Given the description of an element on the screen output the (x, y) to click on. 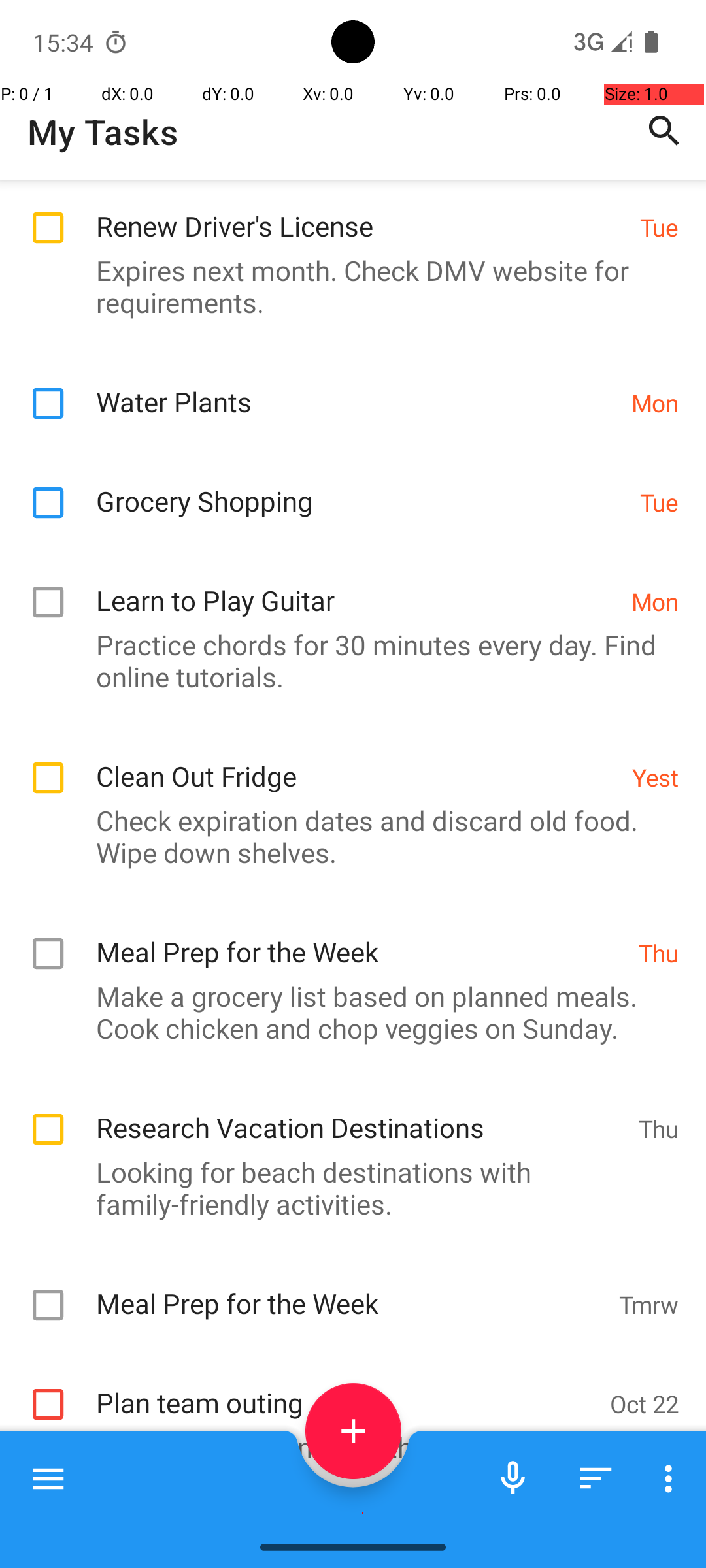
Plan team outing Element type: android.widget.TextView (346, 1388)
Remember to complete this task. Element type: android.widget.TextView (346, 1446)
